Given the description of an element on the screen output the (x, y) to click on. 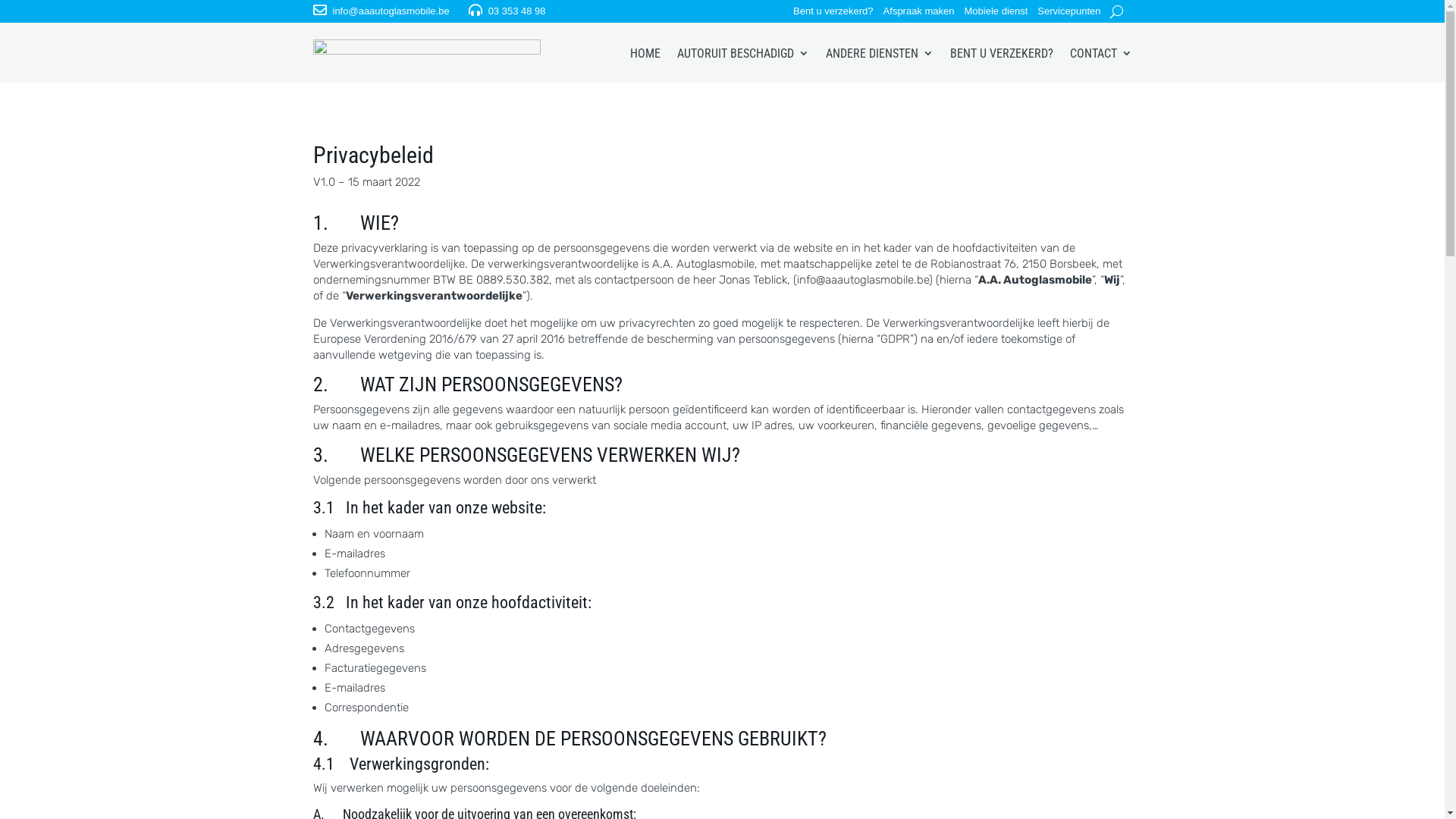
Bent u verzekerd? Element type: text (833, 14)
CONTACT Element type: text (1100, 52)
Servicepunten Element type: text (1068, 14)
AUTORUIT BESCHADIGD Element type: text (742, 52)
HOME Element type: text (644, 52)
Mobiele dienst Element type: text (996, 14)
BENT U VERZEKERD? Element type: text (1000, 52)
ANDERE DIENSTEN Element type: text (878, 52)
Afspraak maken Element type: text (918, 14)
